Given the description of an element on the screen output the (x, y) to click on. 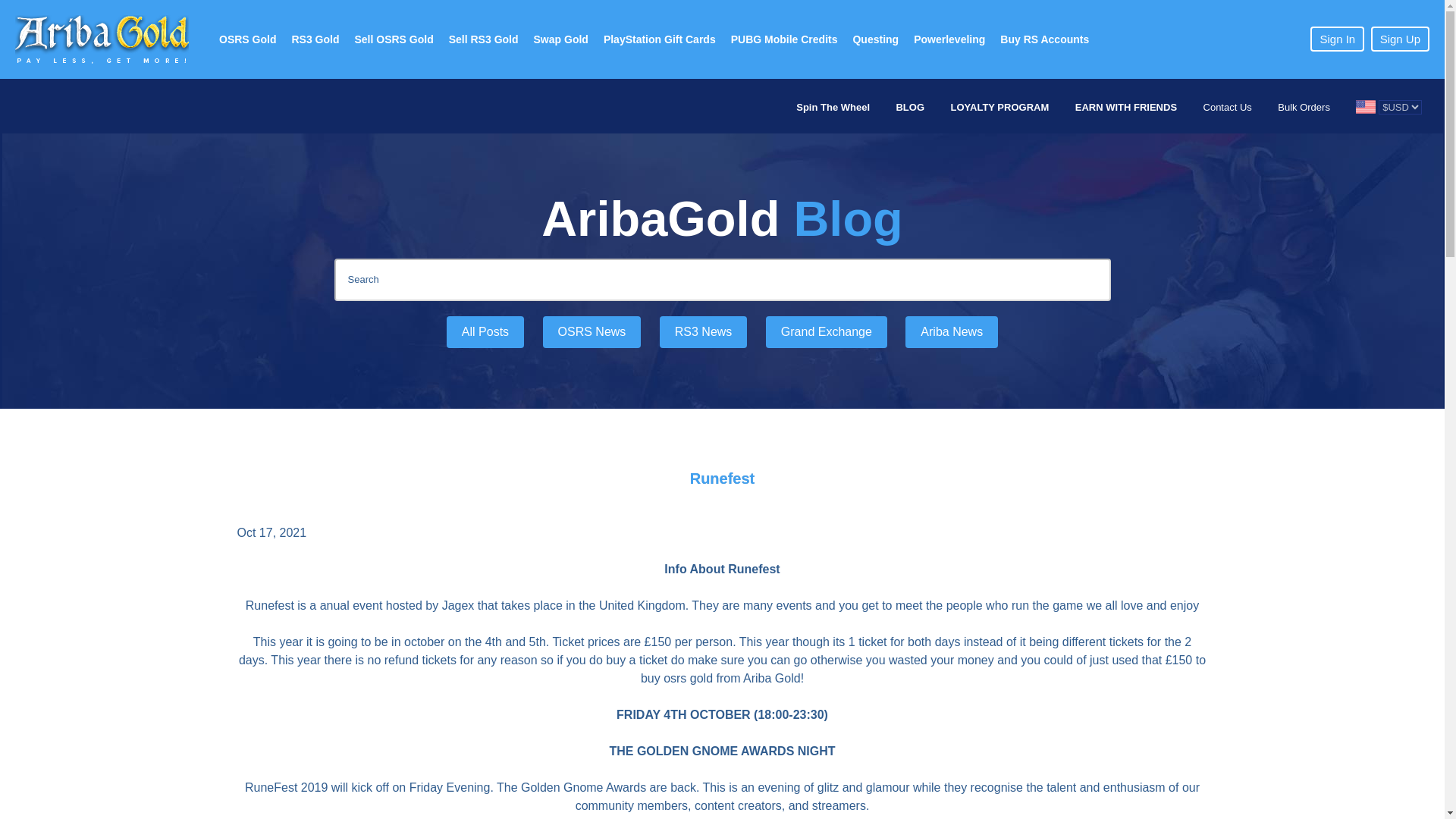
Bulk Orders (1304, 107)
Sign Up (1400, 38)
OSRS Gold (247, 39)
Questing (874, 39)
Sell RS3 Gold (483, 39)
BLOG (909, 107)
Spin The Wheel (832, 107)
Buy RS Accounts (1044, 39)
Swap Gold (560, 39)
Contact Us (1228, 107)
LOYALTY PROGRAM (999, 107)
Sell OSRS Gold (393, 39)
PlayStation Gift Cards (659, 39)
Powerleveling (948, 39)
Sign In (1337, 38)
